Given the description of an element on the screen output the (x, y) to click on. 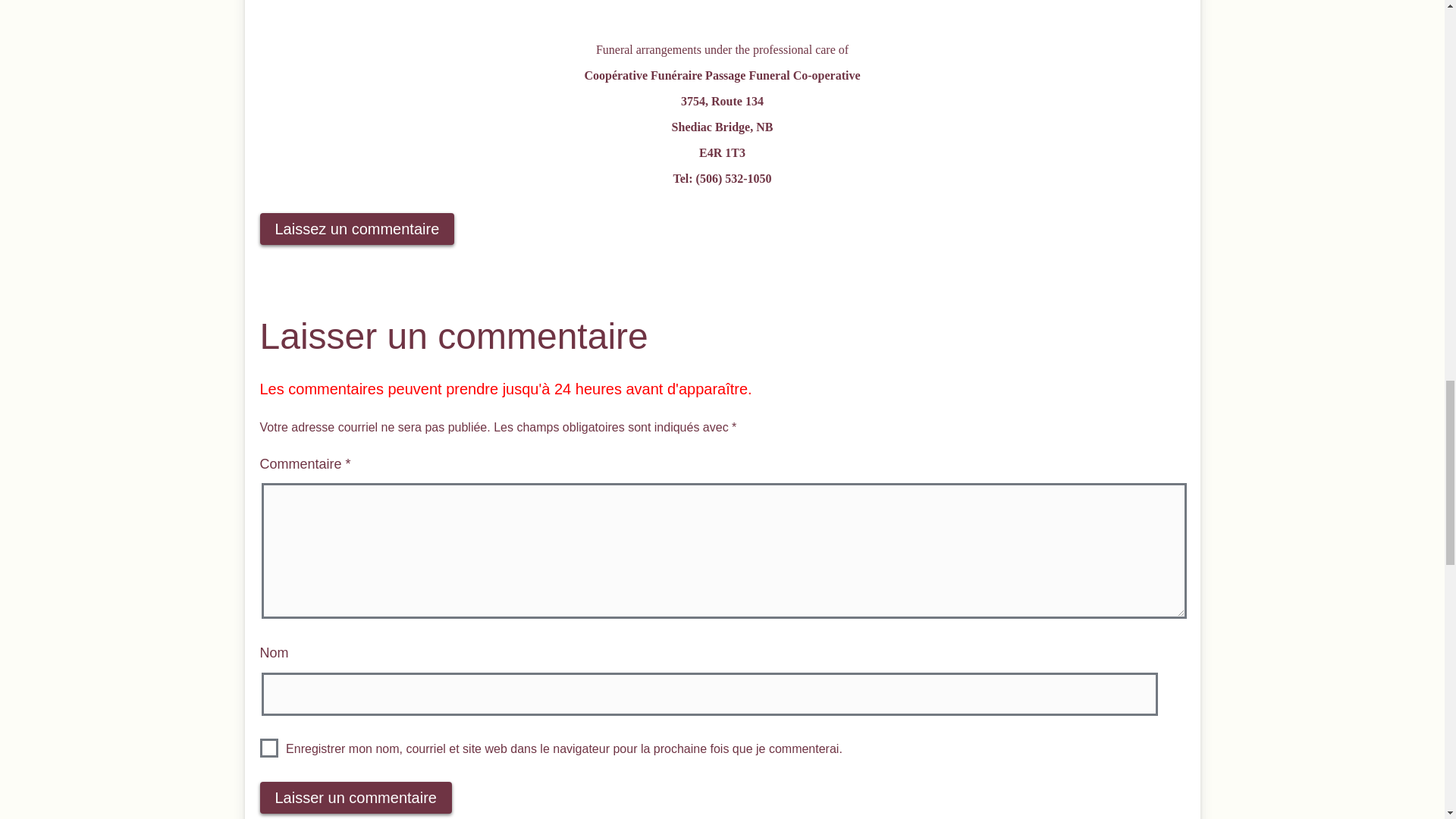
Laisser un commentaire (355, 798)
Laissez un commentaire (356, 228)
yes (268, 747)
Laisser un commentaire (355, 798)
Laissez un commentaire (356, 228)
